Given the description of an element on the screen output the (x, y) to click on. 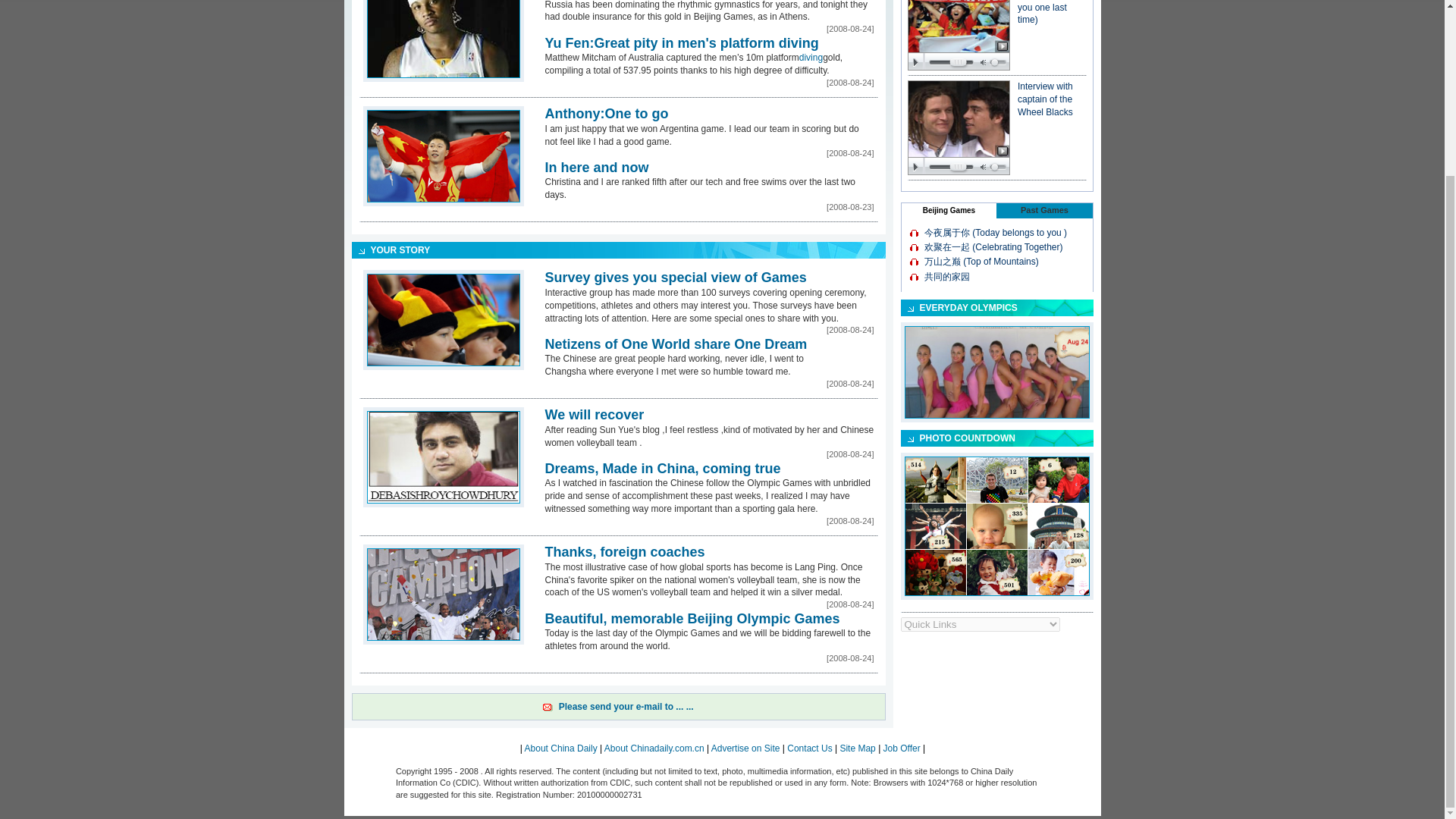
EVERYDAY OLYMPICS (967, 307)
Yu Fen:Great pity in men's platform diving (681, 43)
Survey gives you special view of Games (675, 277)
diving (810, 57)
YOUR STORY (399, 249)
Netizens of One World share One Dream (675, 344)
Please send your e-mail to ... ... (626, 706)
Anthony:One to go (606, 113)
We will recover (593, 414)
In here and now (595, 167)
Beautiful, memorable Beijing Olympic Games (692, 618)
Dreams, Made in China, coming true (662, 468)
Thanks, foreign coaches (624, 551)
PHOTO COUNTDOWN (966, 438)
